Given the description of an element on the screen output the (x, y) to click on. 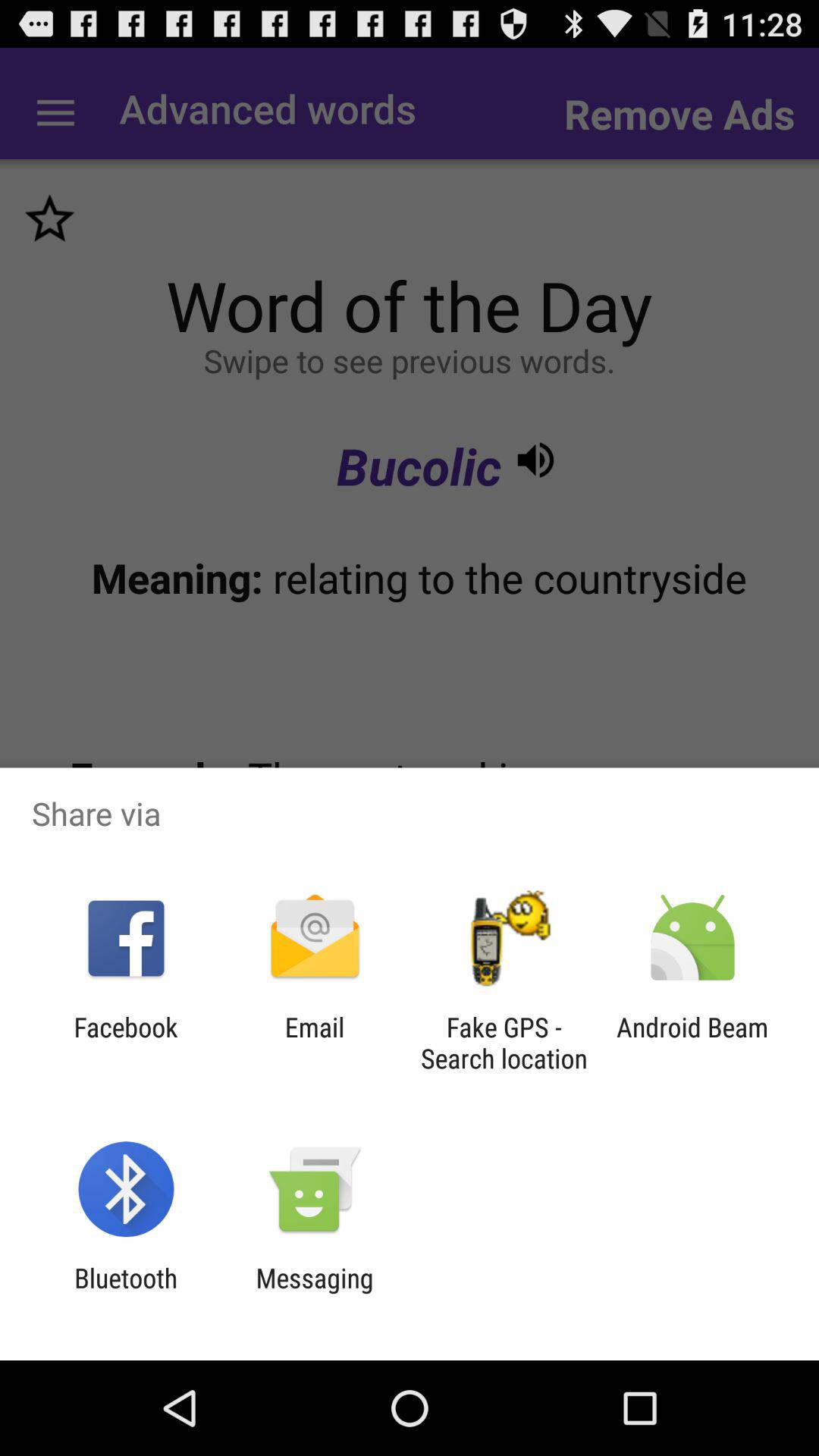
tap the icon to the left of the messaging icon (125, 1293)
